Given the description of an element on the screen output the (x, y) to click on. 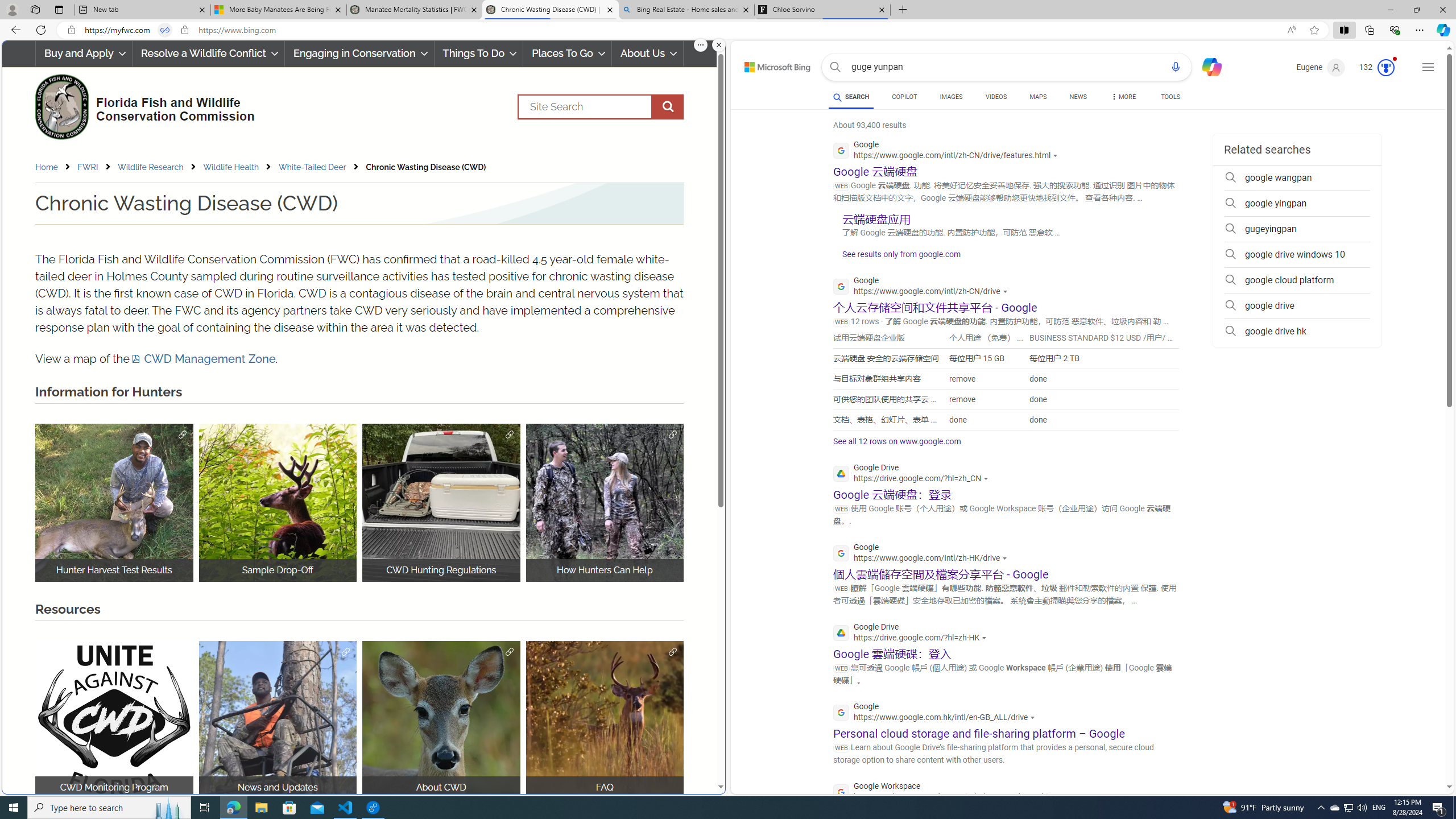
Search using voice (1174, 66)
FWC Logo Florida Fish and Wildlife Conservation Commission (139, 104)
FAQ Photo showing a mature antlered while-tailed deer (604, 720)
FWRI (96, 166)
Search (600, 106)
VIDEOS (995, 96)
Search more (1423, 753)
Tabs in split screen (164, 29)
Manatee Mortality Statistics | FWC (414, 9)
Things To Do (477, 53)
